Given the description of an element on the screen output the (x, y) to click on. 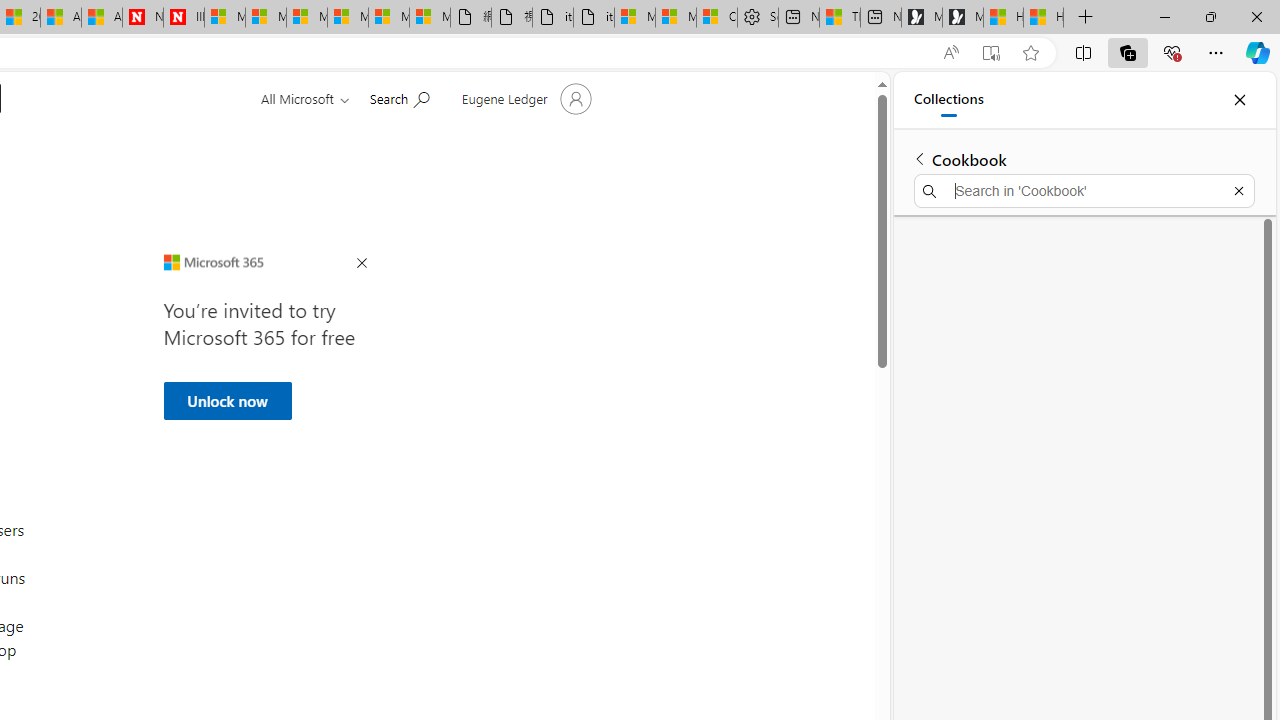
Consumer Health Data Privacy Policy (717, 17)
Close Ad (361, 264)
Exit search (1238, 190)
Search for help (399, 97)
How to Use a TV as a Computer Monitor (1043, 17)
Illness news & latest pictures from Newsweek.com (183, 17)
